Given the description of an element on the screen output the (x, y) to click on. 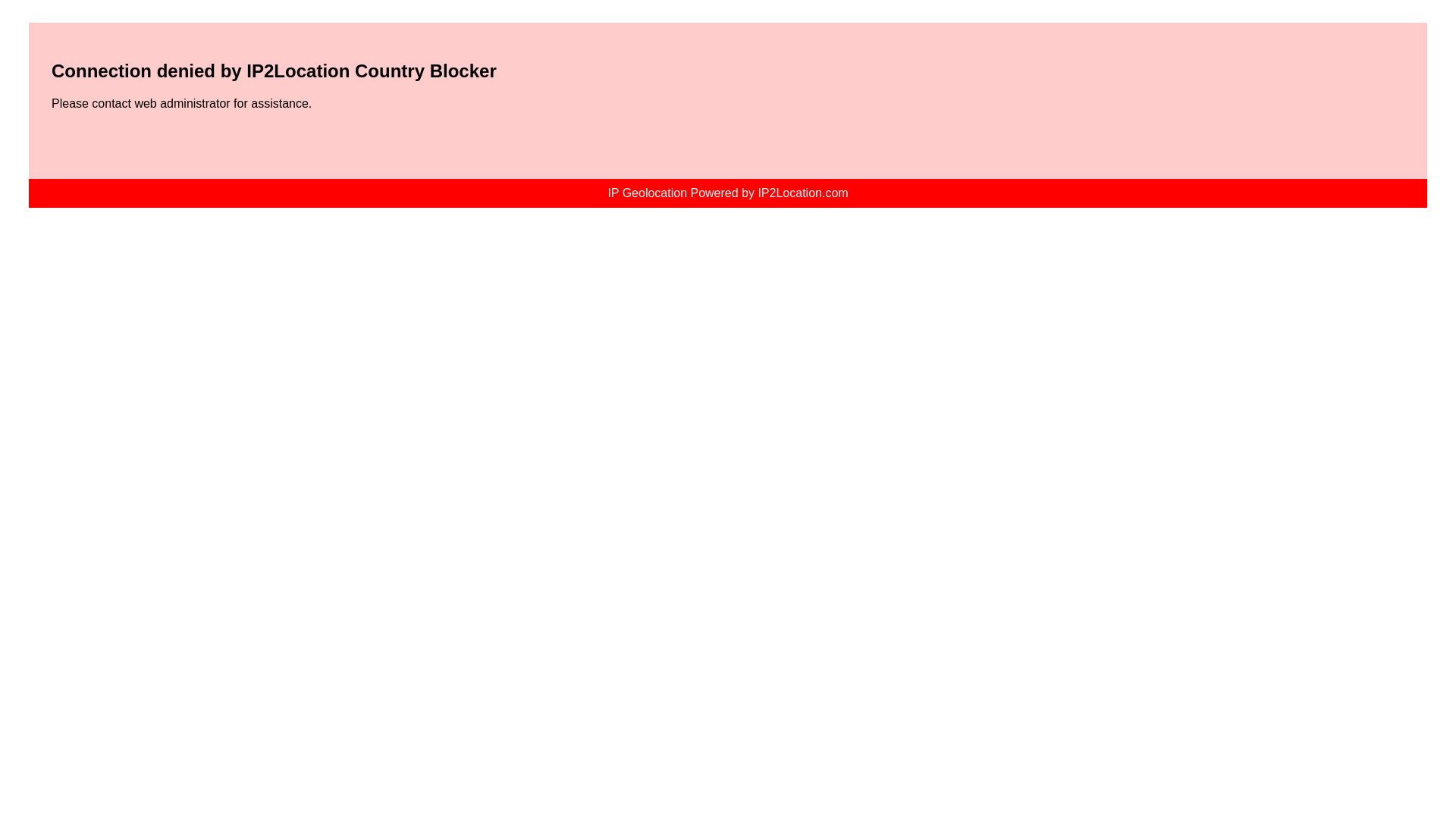
IP Geolocation Powered by IP2Location.com (727, 192)
